Given the description of an element on the screen output the (x, y) to click on. 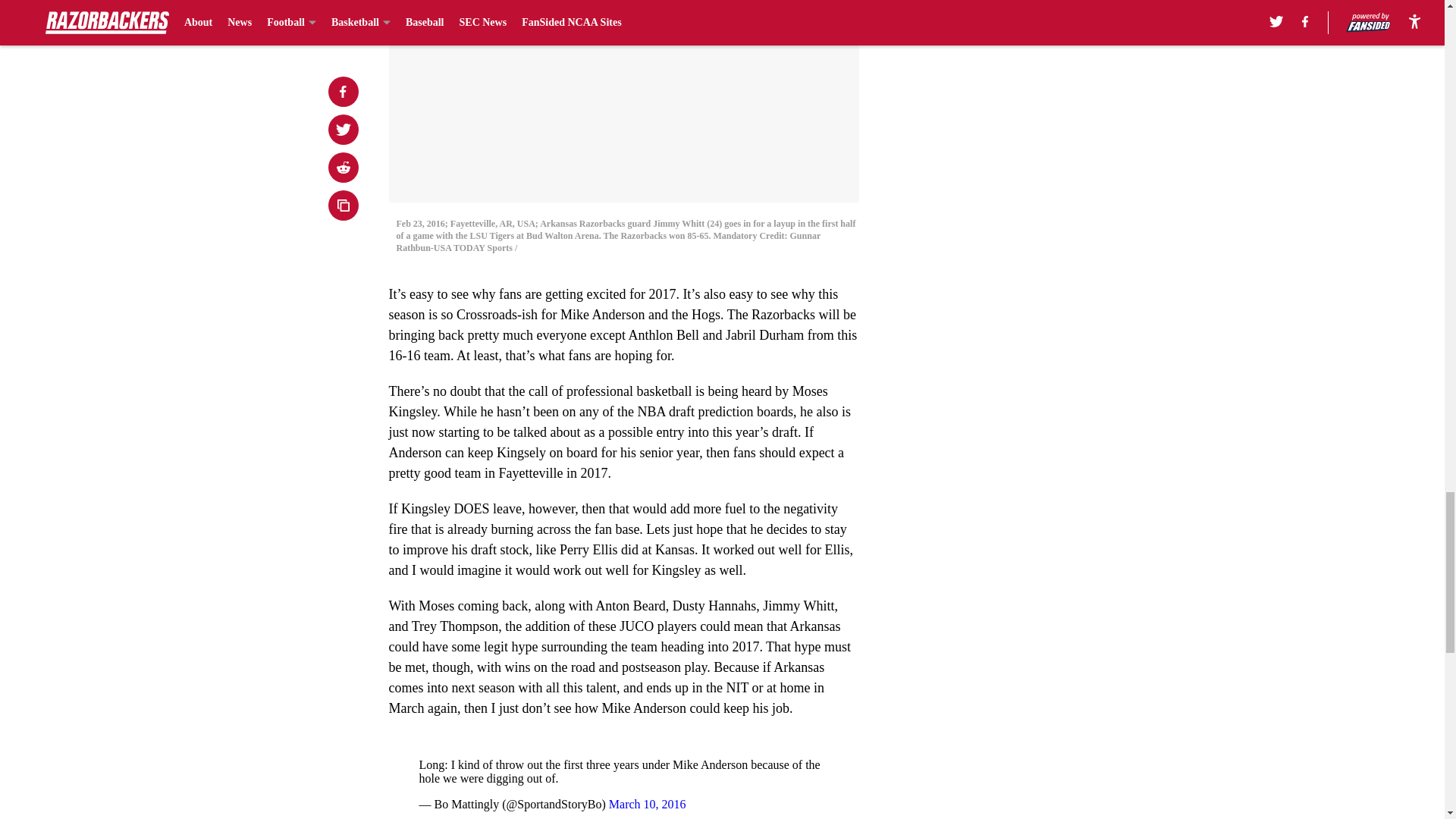
March 10, 2016 (646, 803)
